Given the description of an element on the screen output the (x, y) to click on. 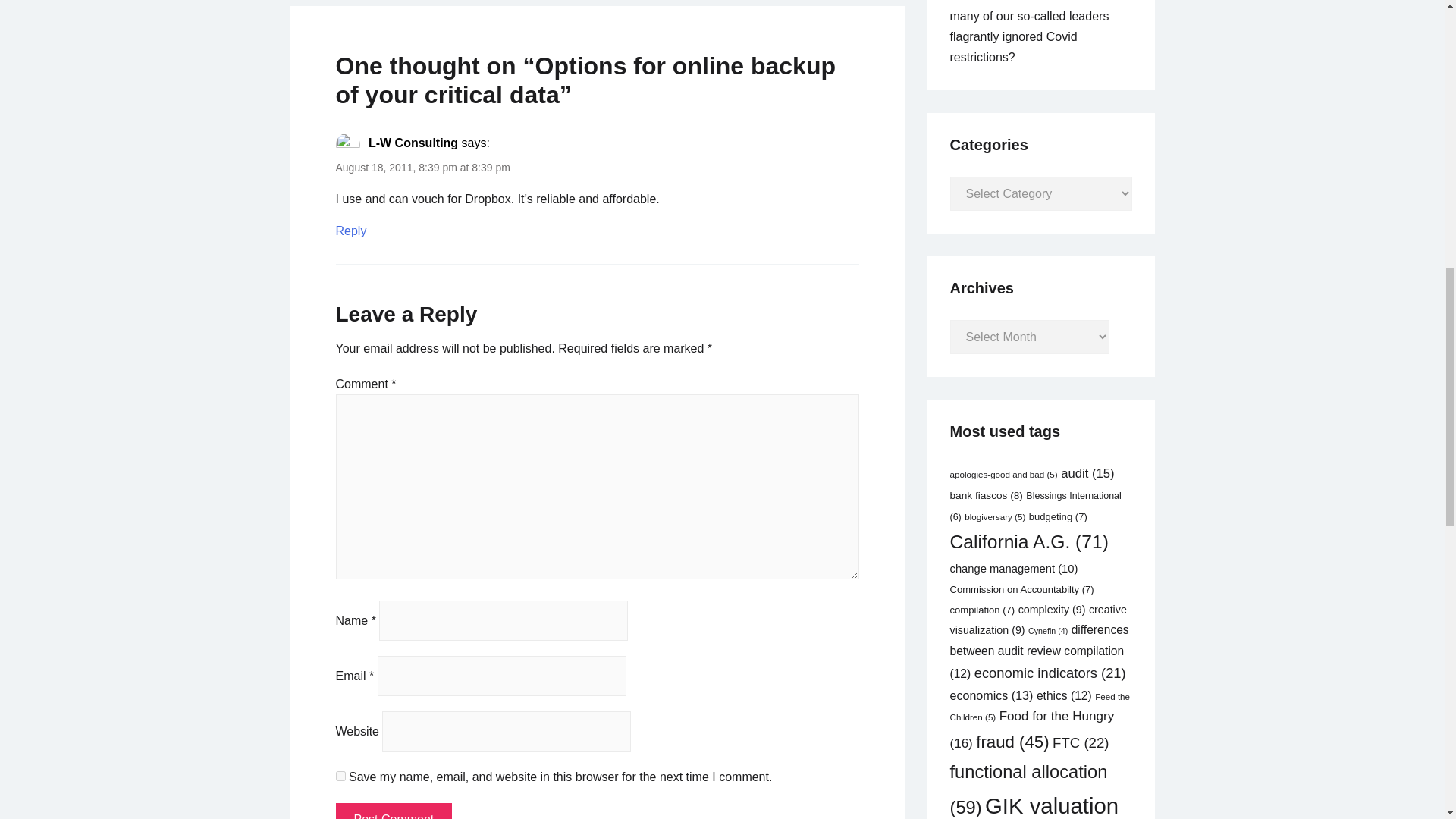
yes (339, 776)
L-W Consulting (413, 142)
August 18, 2011, 8:39 pm at 8:39 pm (421, 167)
Reply (350, 232)
Post Comment (392, 810)
Post Comment (392, 810)
